Given the description of an element on the screen output the (x, y) to click on. 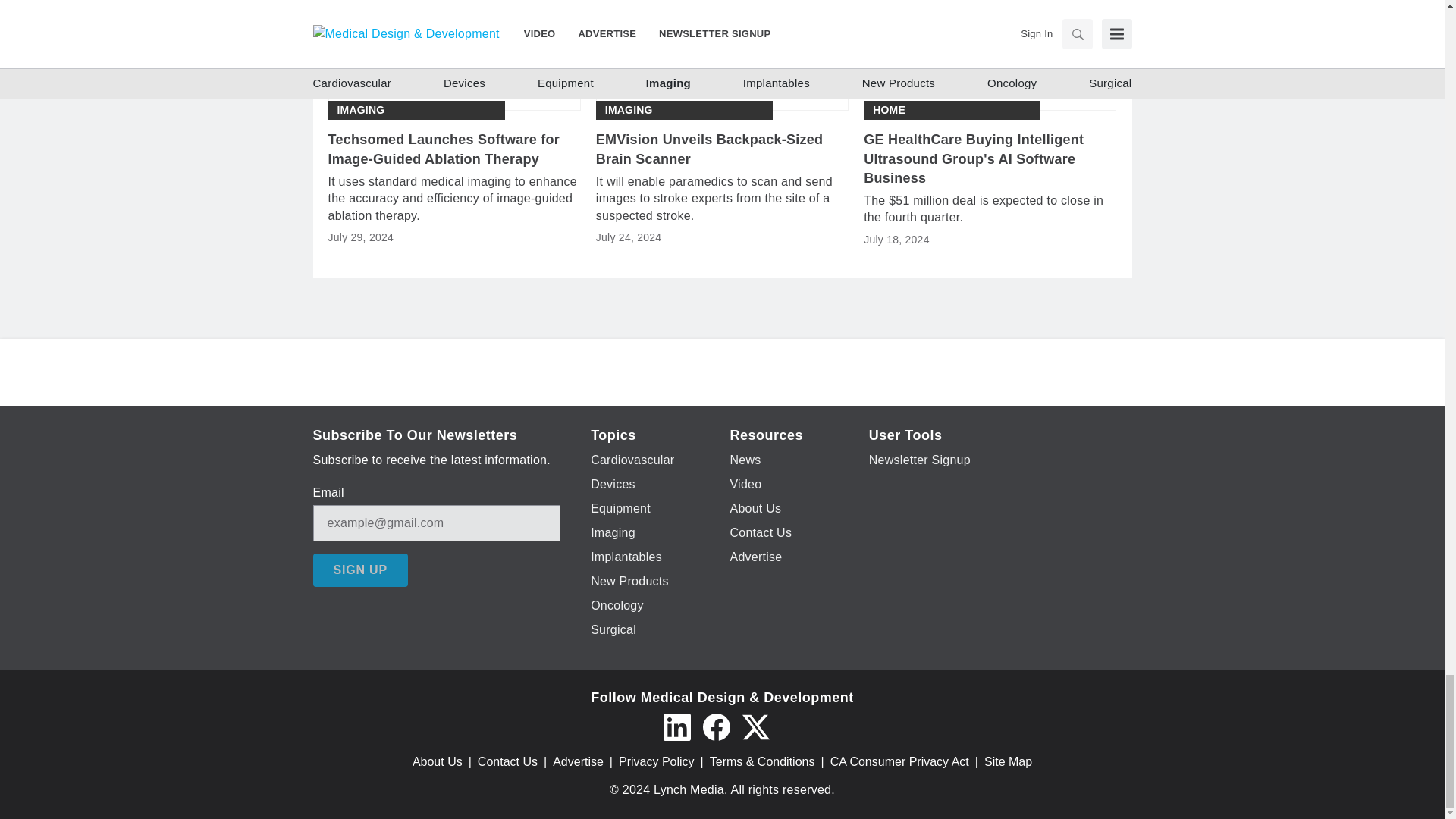
Twitter X icon (754, 727)
Facebook icon (715, 727)
LinkedIn icon (676, 727)
